Given the description of an element on the screen output the (x, y) to click on. 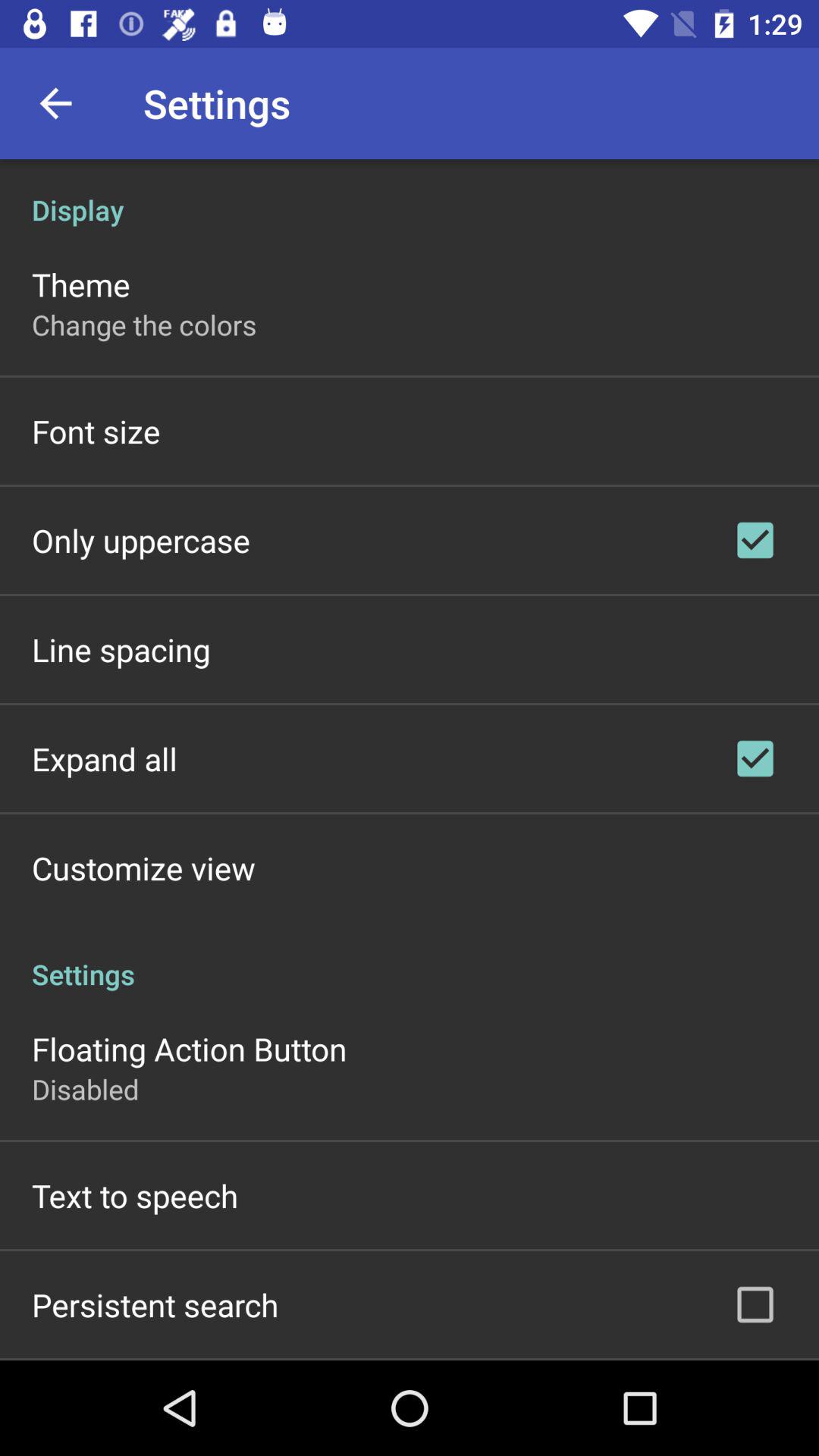
select the icon below the display (80, 283)
